Given the description of an element on the screen output the (x, y) to click on. 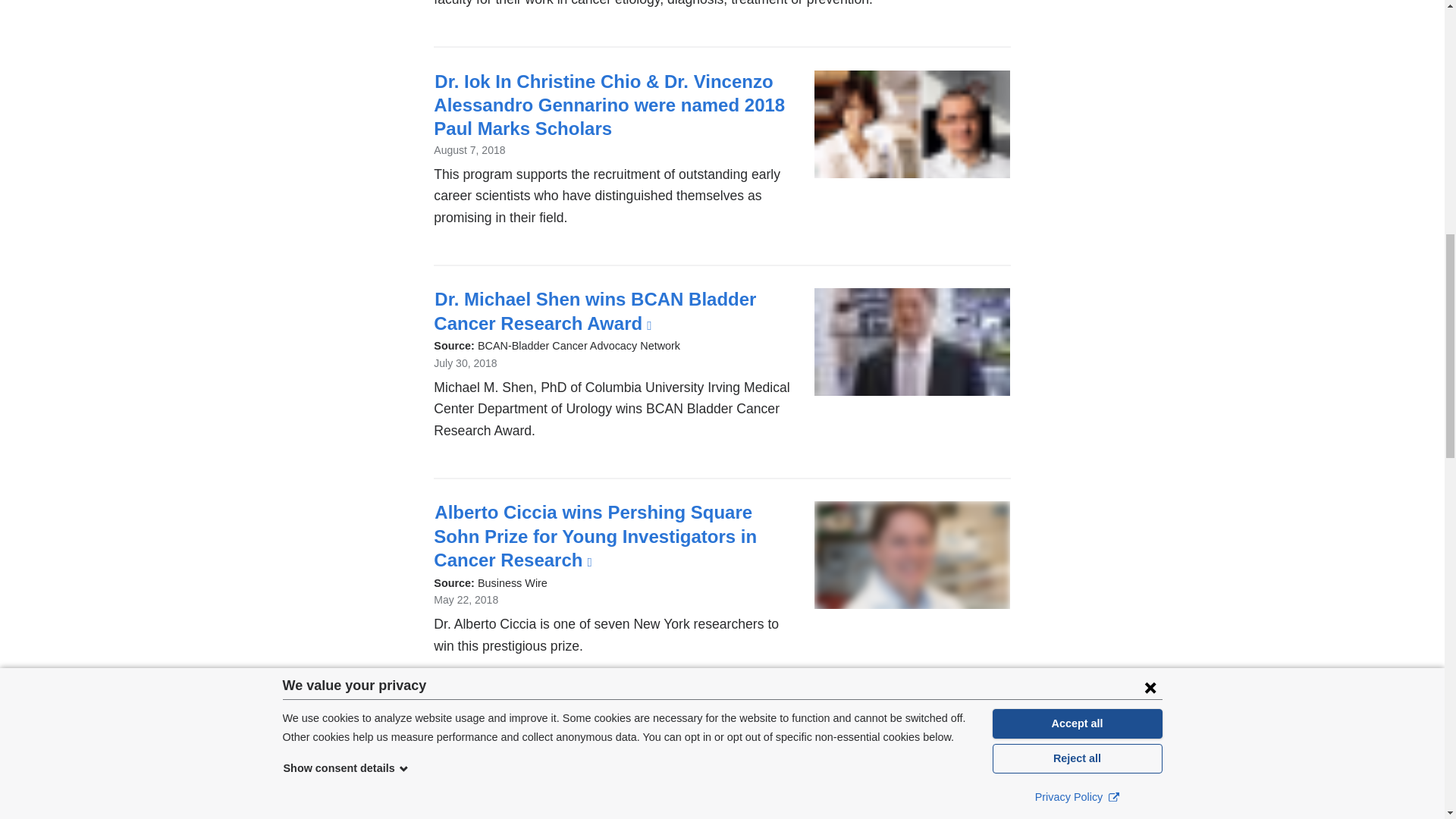
Yelena Zhuravlev PhD selected to speak at GSAS Convocation (607, 740)
